Given the description of an element on the screen output the (x, y) to click on. 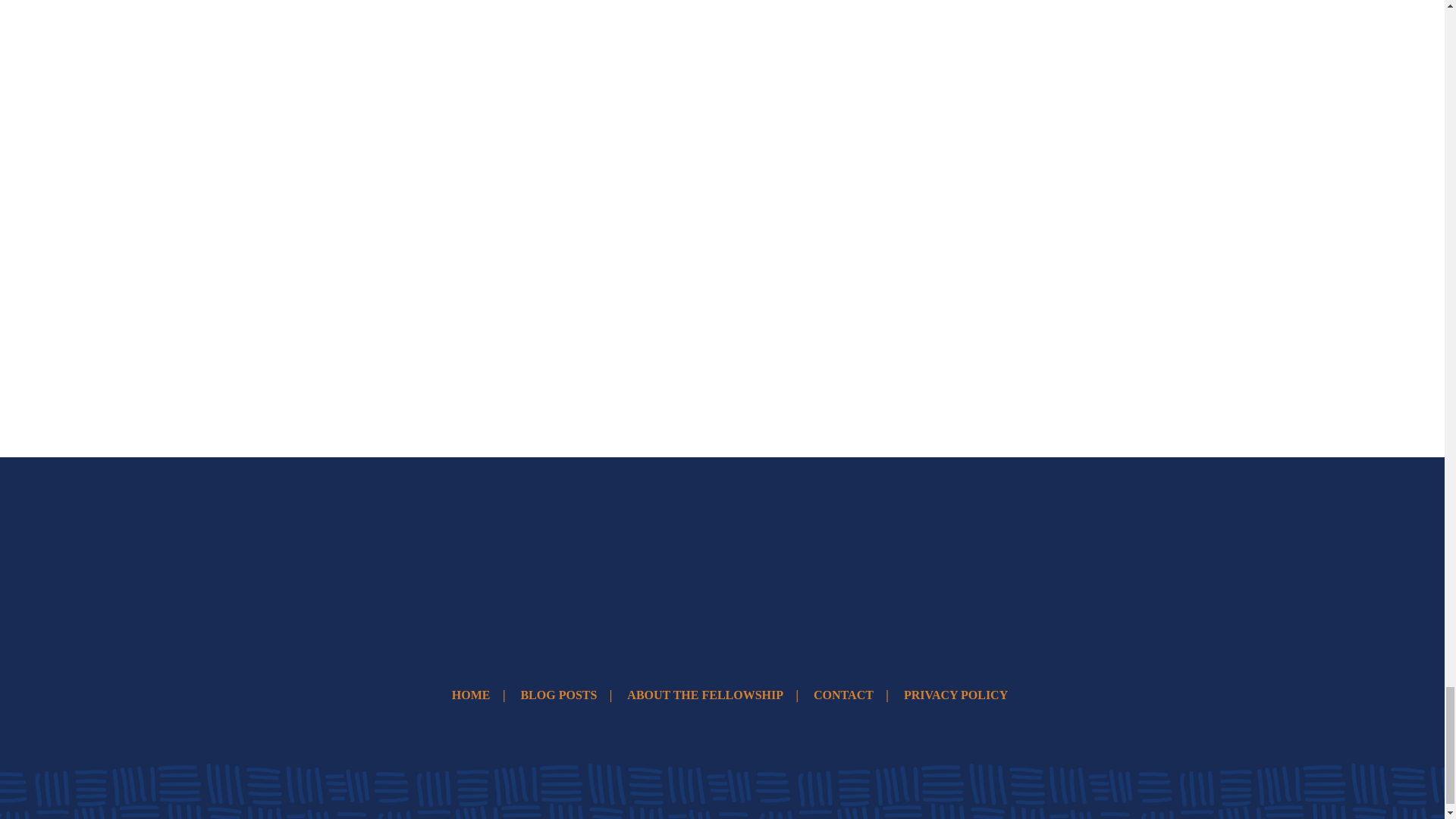
HOME (470, 694)
